Given the description of an element on the screen output the (x, y) to click on. 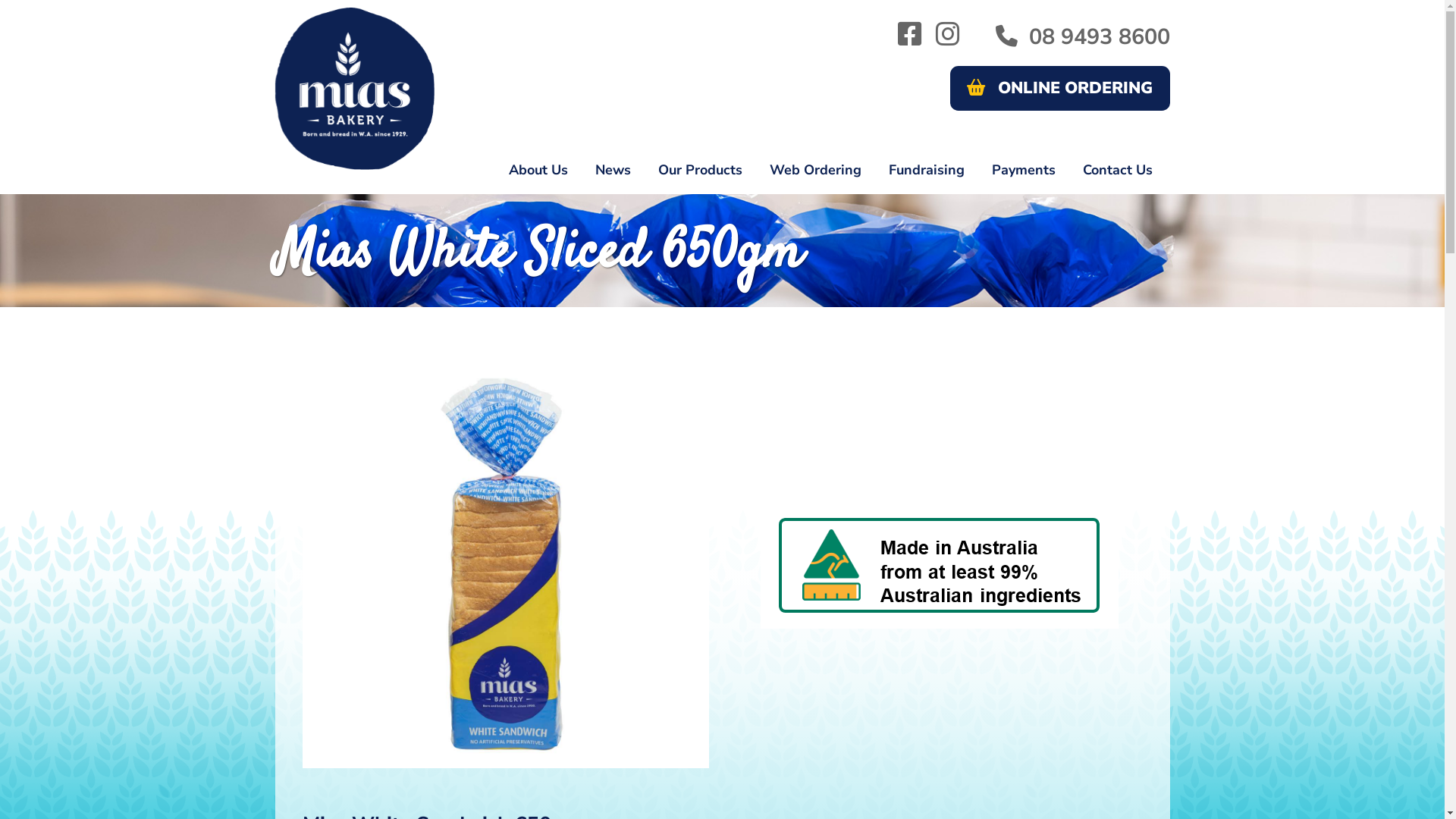
Web Ordering Element type: text (815, 170)
ONLINE ORDERING Element type: text (1060, 87)
About Us Element type: text (538, 170)
Our Products Element type: text (699, 170)
Payments Element type: text (1023, 170)
News Element type: text (613, 170)
Contact Us Element type: text (1117, 170)
Fundraising Element type: text (926, 170)
08 9493 8600 Element type: text (1082, 37)
